Given the description of an element on the screen output the (x, y) to click on. 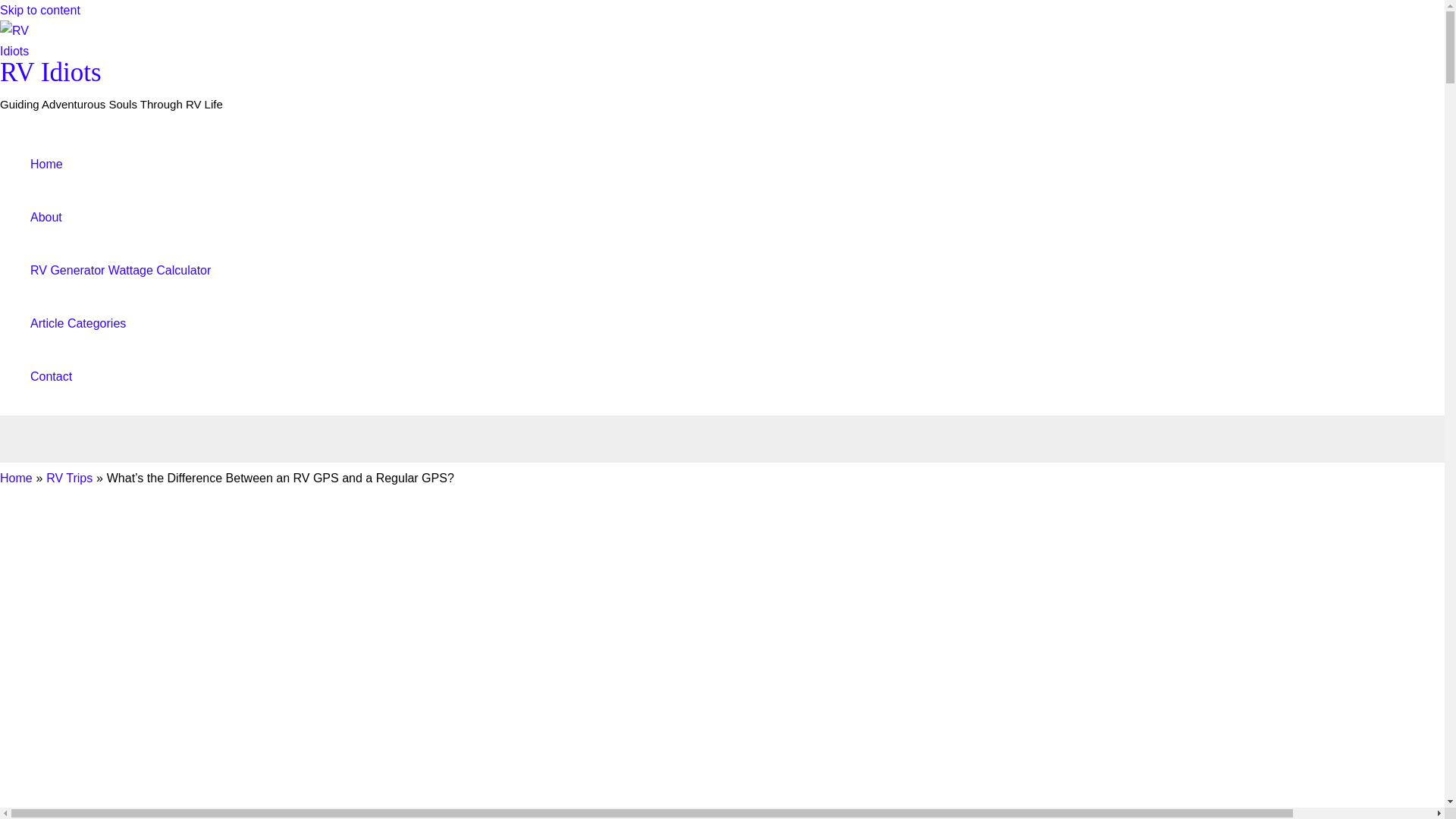
Skip to content (40, 10)
About (120, 217)
Home (120, 164)
RV Generator Wattage Calculator (120, 270)
Article Categories (120, 323)
RV Trips (69, 477)
RV Idiots (50, 71)
Home (16, 477)
Contact (120, 376)
Skip to content (40, 10)
